Given the description of an element on the screen output the (x, y) to click on. 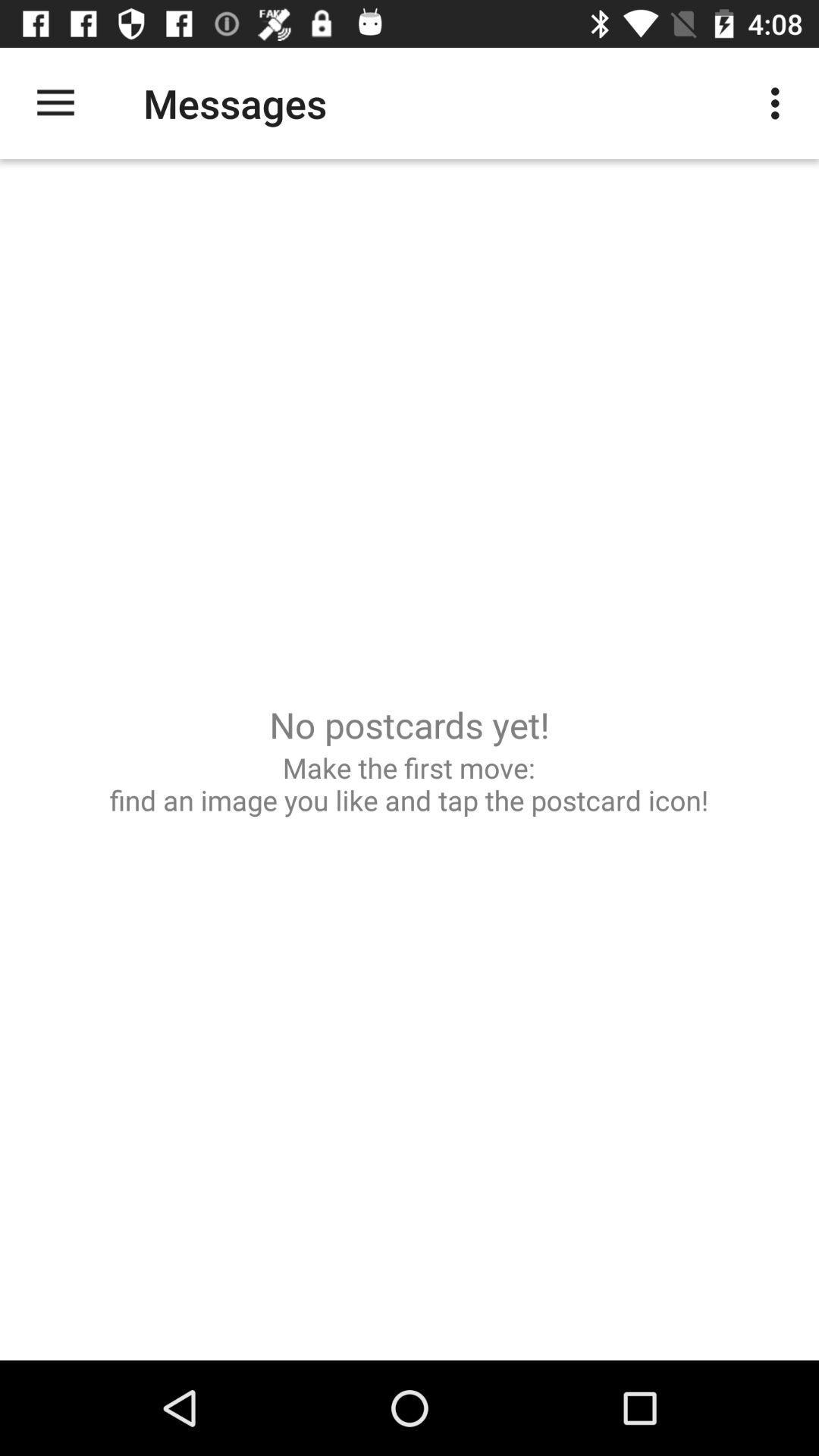
select icon above make the first icon (55, 103)
